Given the description of an element on the screen output the (x, y) to click on. 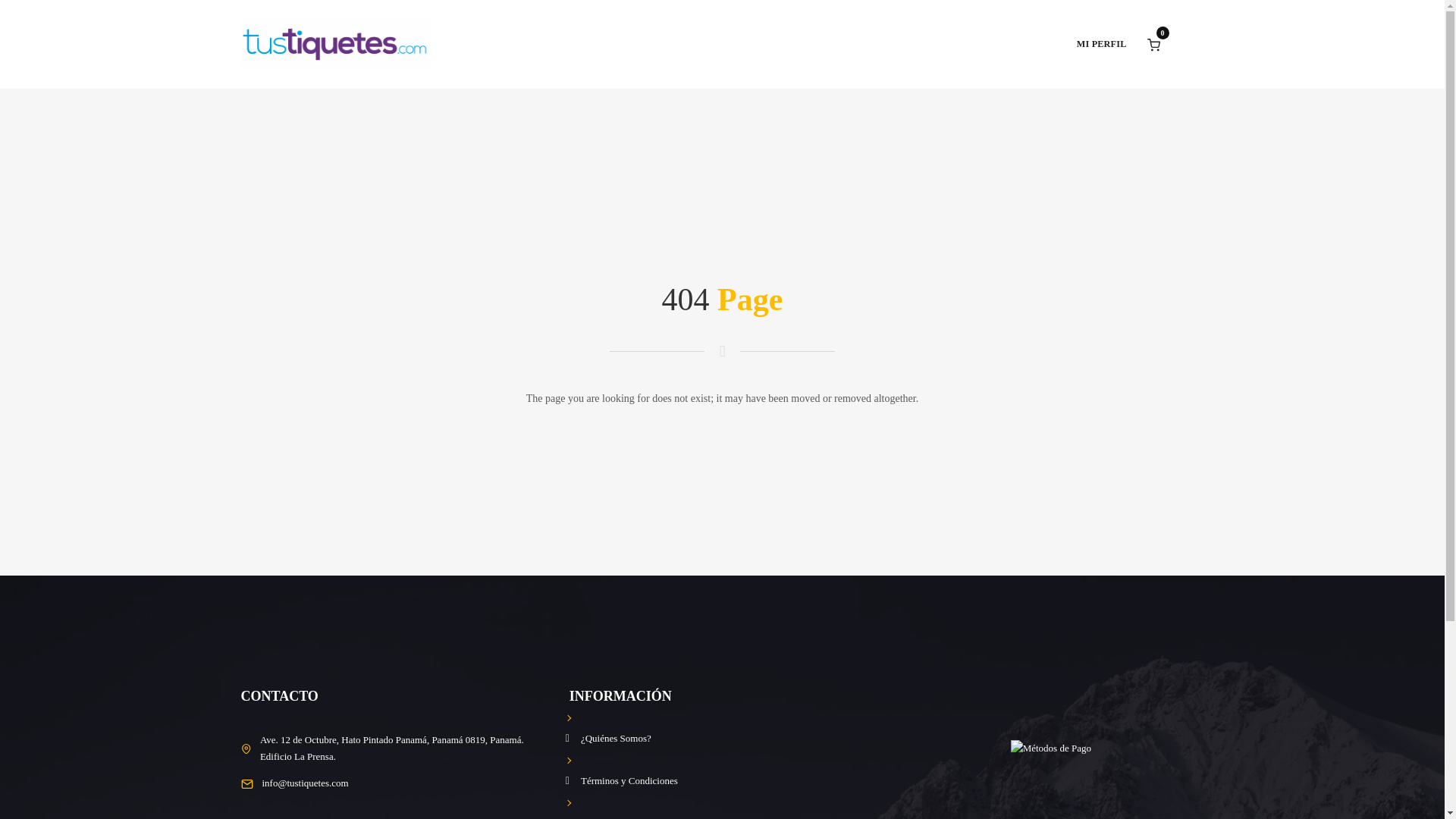
MI PERFIL (1101, 43)
0 (1152, 43)
